Given the description of an element on the screen output the (x, y) to click on. 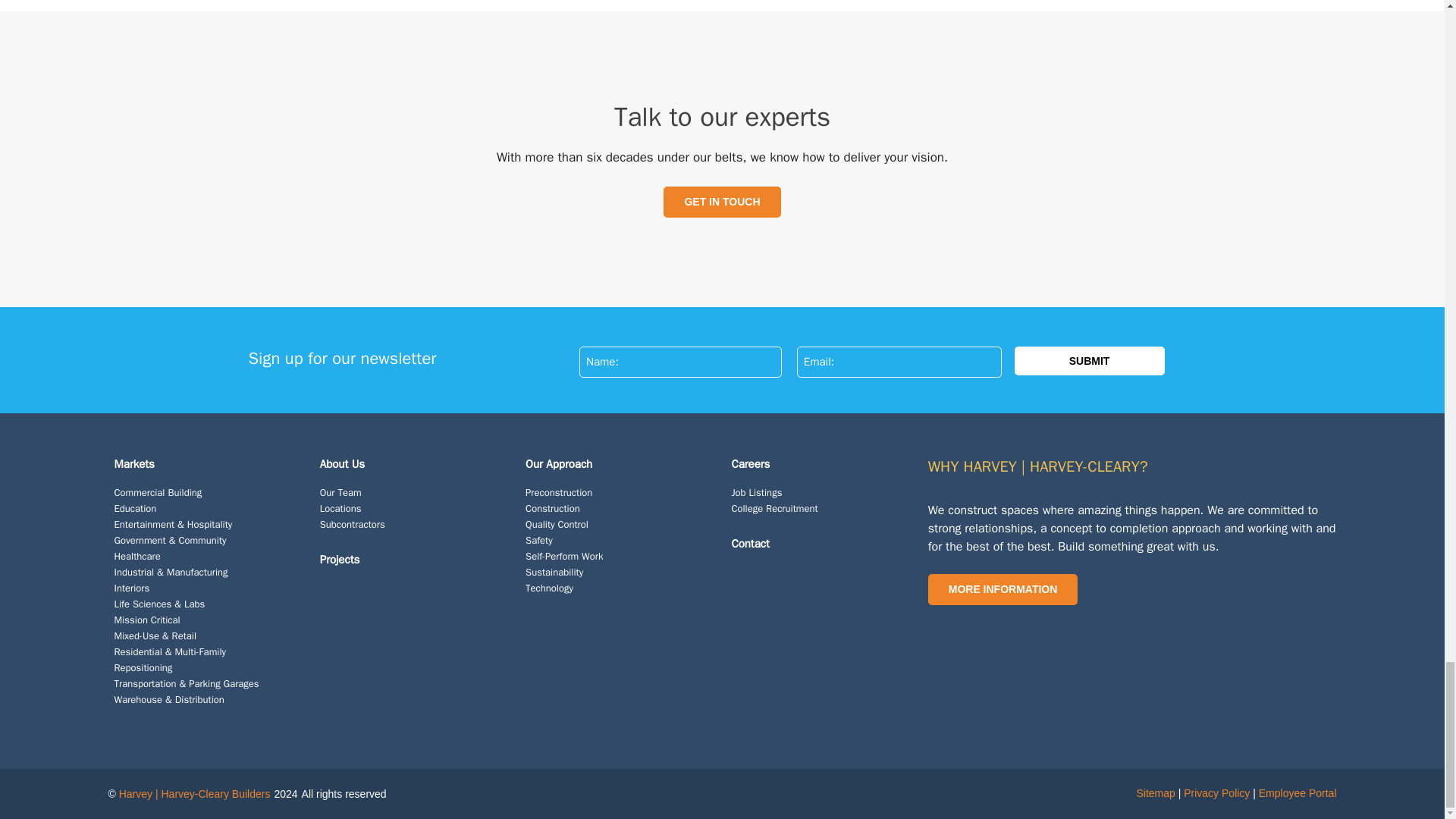
Facebook (937, 633)
Instagram (990, 633)
Submit (1089, 360)
LinkedIn (964, 633)
twitter-1-1 (1016, 633)
